Given the description of an element on the screen output the (x, y) to click on. 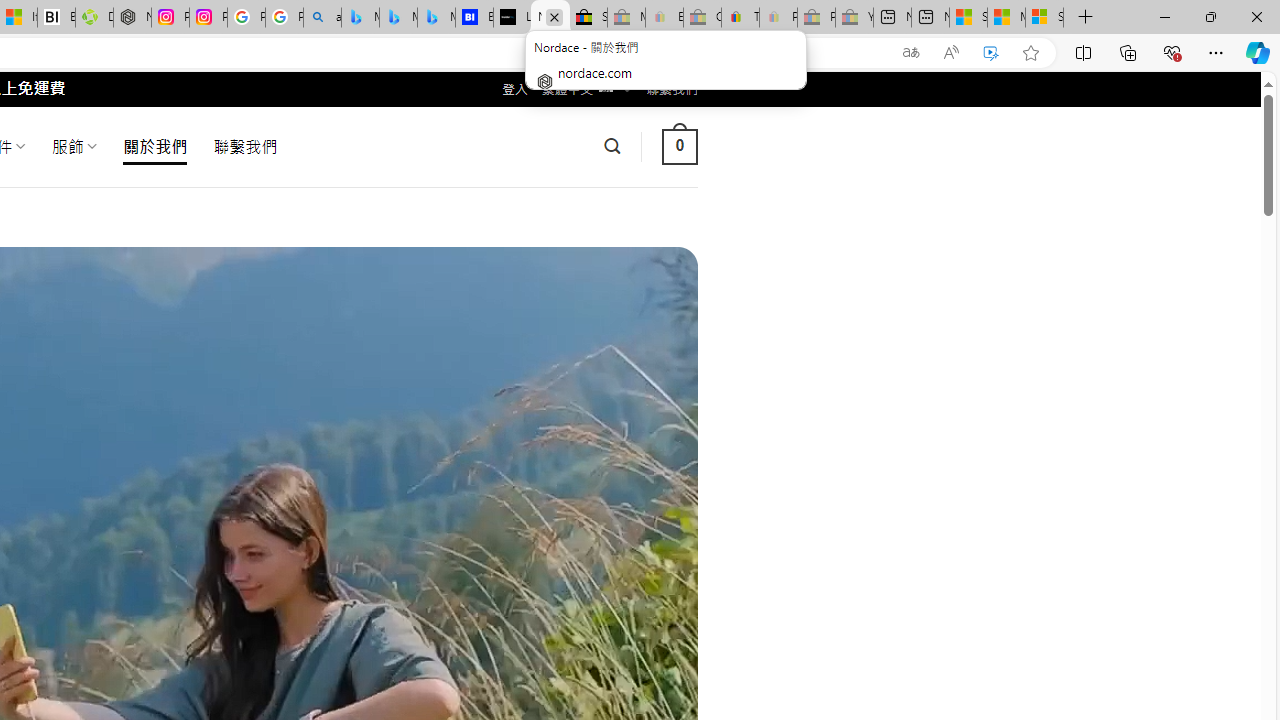
Shanghai, China hourly forecast | Microsoft Weather (967, 17)
Nordace - Nordace Edin Collection (132, 17)
Payments Terms of Use | eBay.com - Sleeping (778, 17)
